Given the description of an element on the screen output the (x, y) to click on. 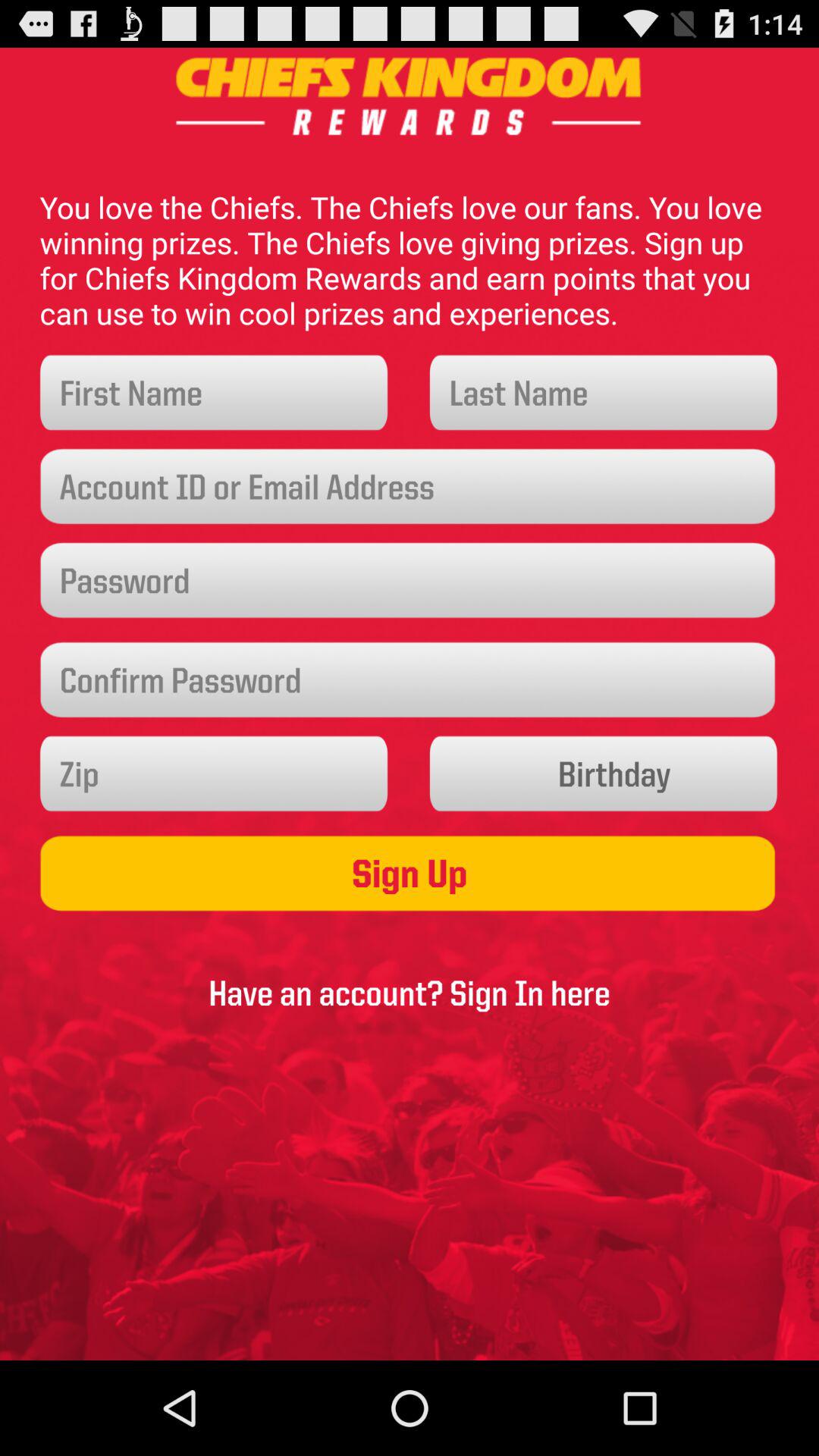
input the last name (604, 392)
